Given the description of an element on the screen output the (x, y) to click on. 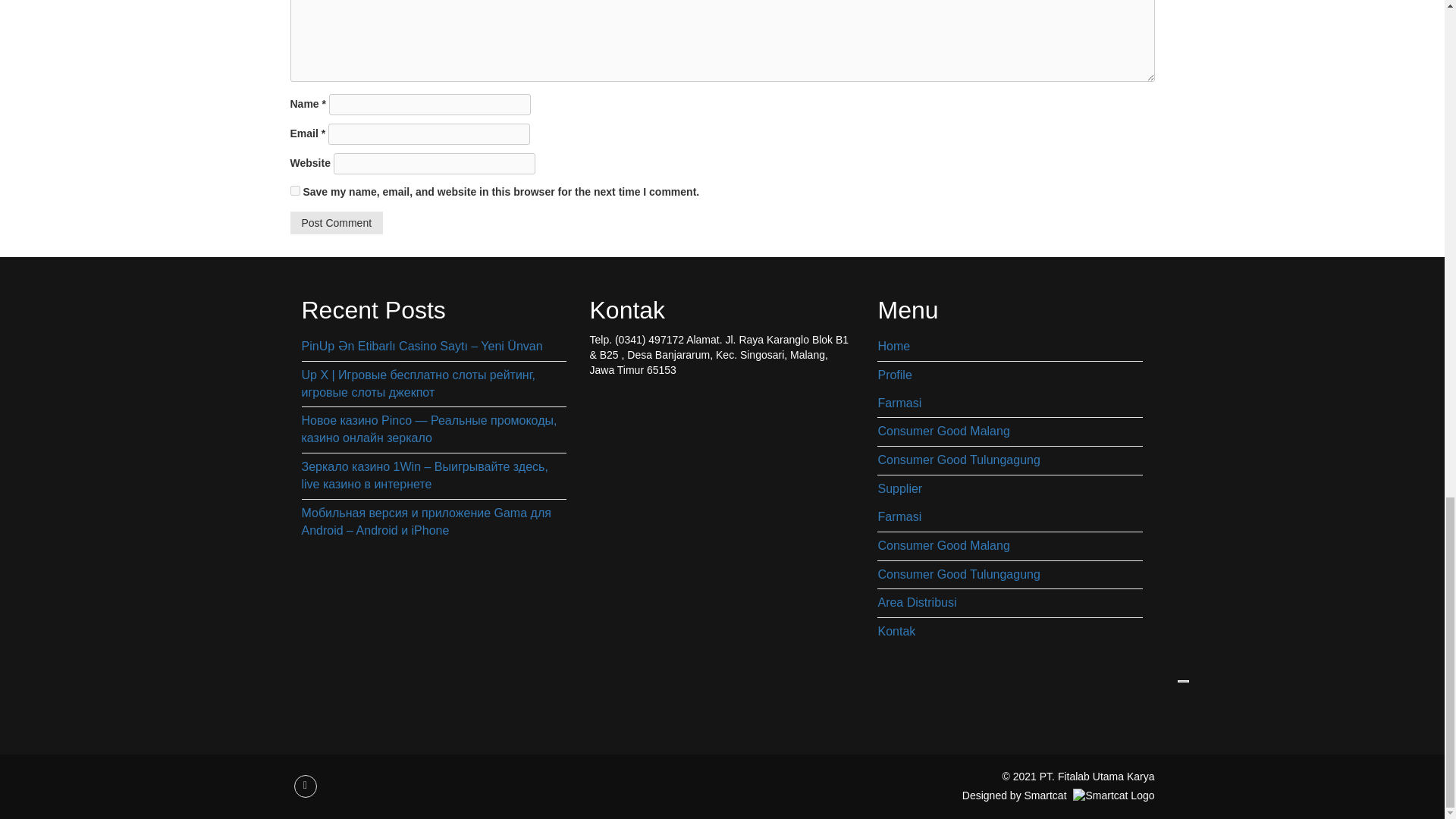
Post Comment (335, 222)
Post Comment (335, 222)
yes (294, 190)
